Given the description of an element on the screen output the (x, y) to click on. 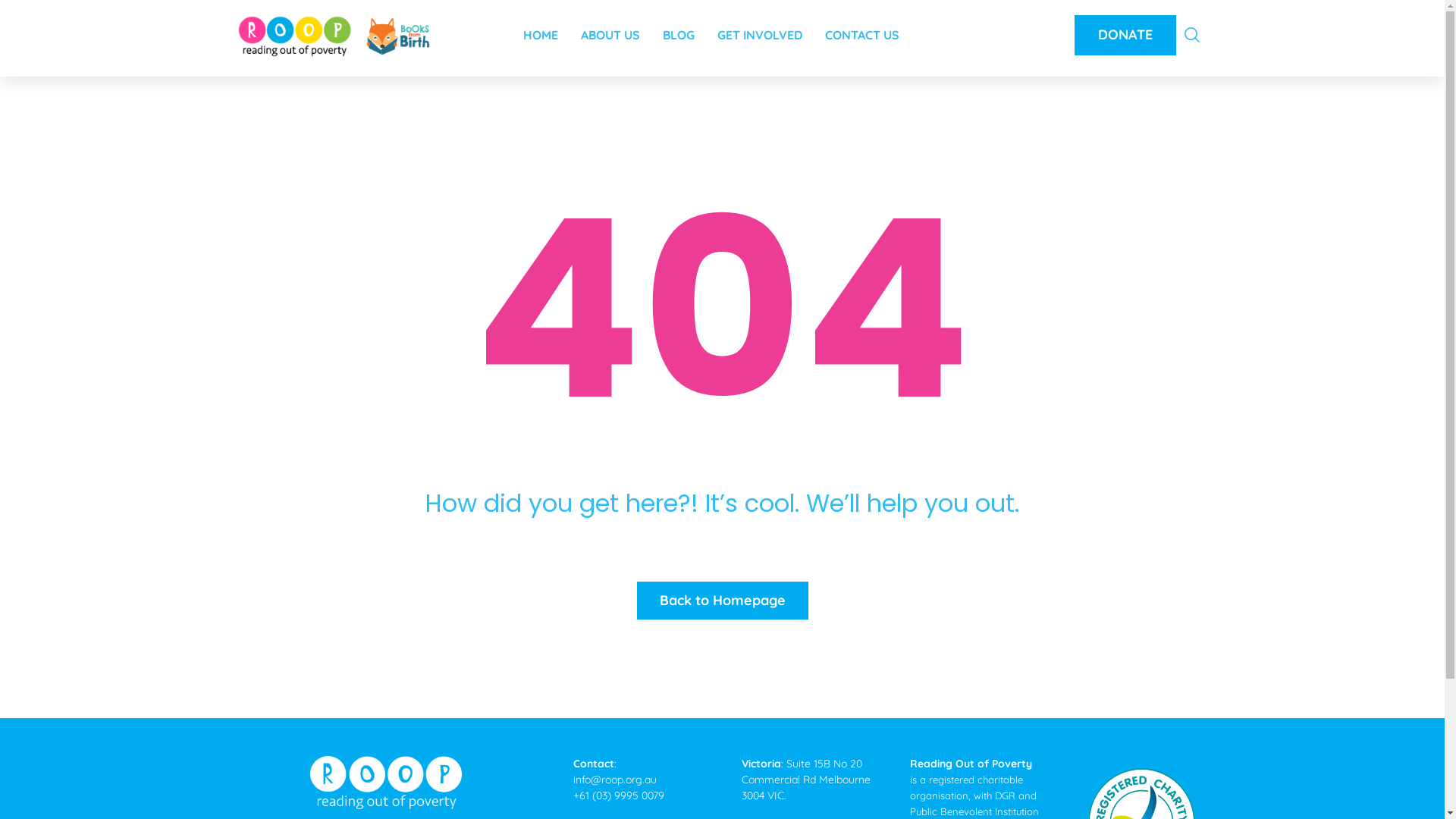
CONTACT US Element type: text (862, 29)
GET INVOLVED Element type: text (759, 29)
BLOG Element type: text (678, 29)
Back to Homepage Element type: text (722, 600)
DONATE Element type: text (1124, 35)
ABOUT US Element type: text (610, 29)
HOME Element type: text (540, 29)
ROOP Element type: hover (333, 36)
